Given the description of an element on the screen output the (x, y) to click on. 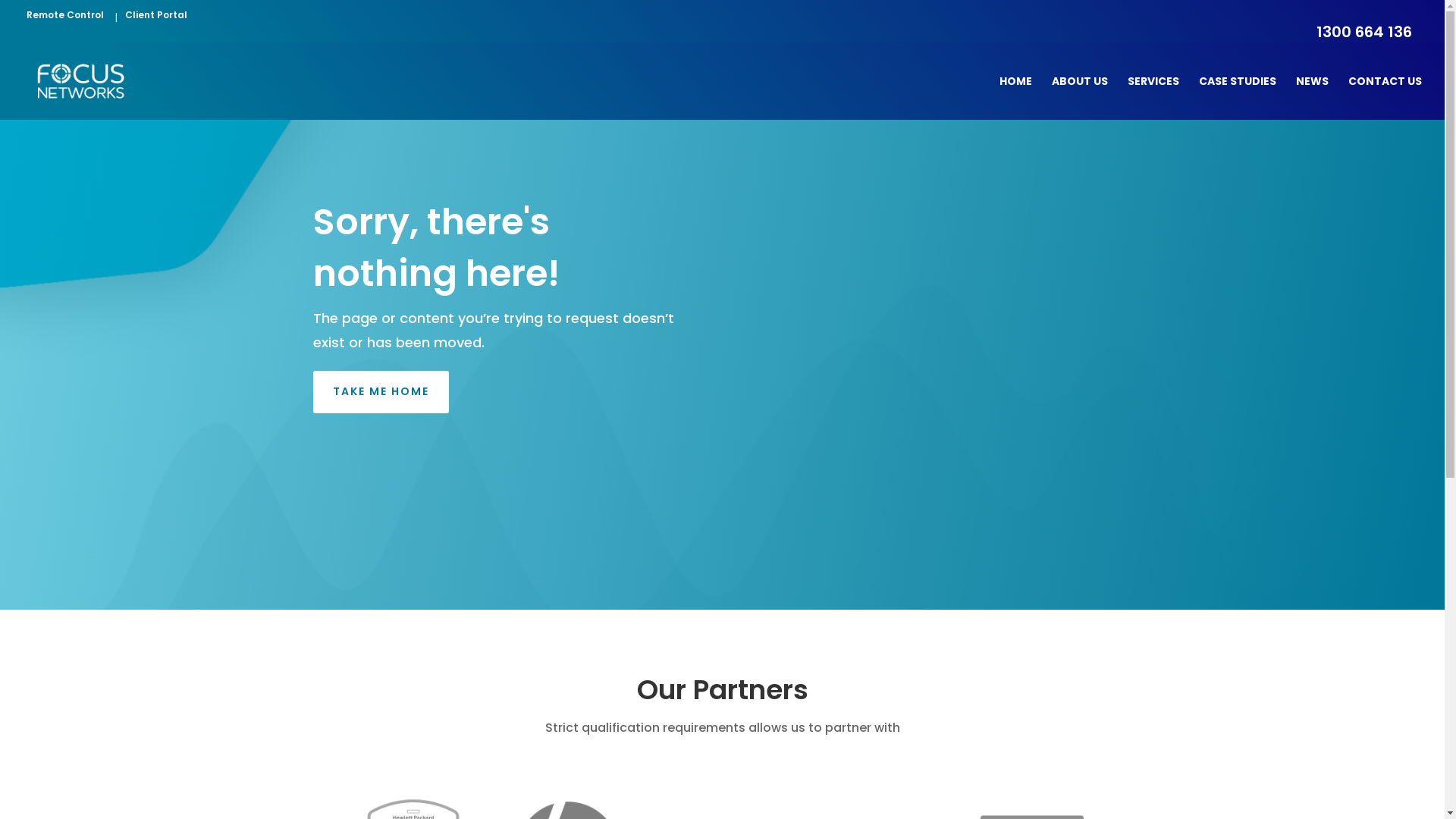
Client Portal Element type: text (154, 15)
HOME Element type: text (1015, 97)
ABOUT US Element type: text (1079, 97)
Remote Control Element type: text (62, 15)
SERVICES Element type: text (1153, 97)
CONTACT US Element type: text (1384, 97)
1300 664 136 Element type: text (1362, 33)
NEWS Element type: text (1311, 97)
CASE STUDIES Element type: text (1237, 97)
TAKE ME HOME Element type: text (380, 391)
